Given the description of an element on the screen output the (x, y) to click on. 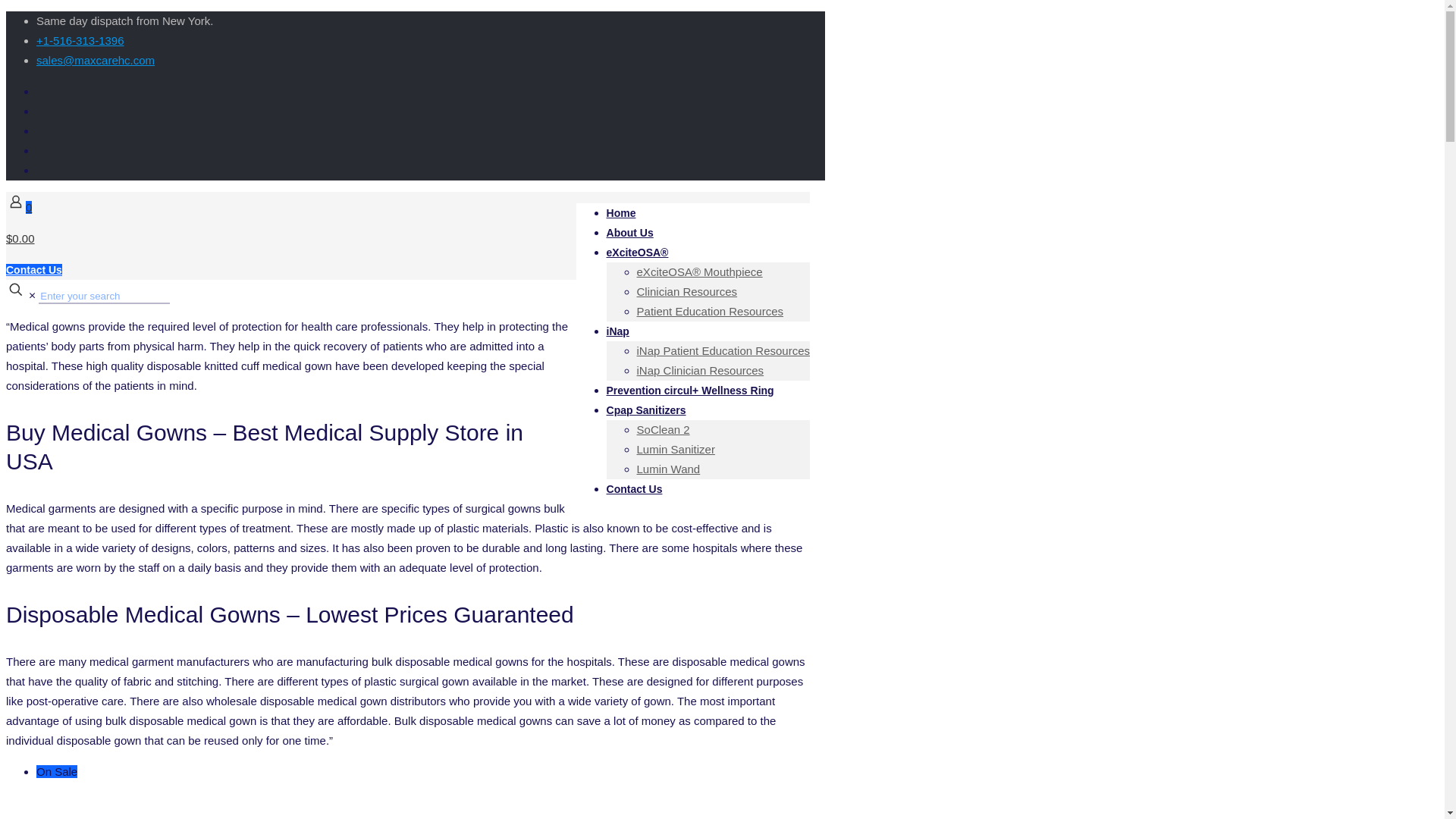
Lumin Wand (668, 468)
Contact Us (33, 269)
Lumin Sanitizer (675, 449)
Cpap Sanitizers (646, 410)
iNap Clinician Resources (700, 369)
SoClean 2 (663, 429)
iNap Patient Education Resources (723, 350)
Clinician Resources (687, 291)
Patient Education Resources (710, 310)
